Given the description of an element on the screen output the (x, y) to click on. 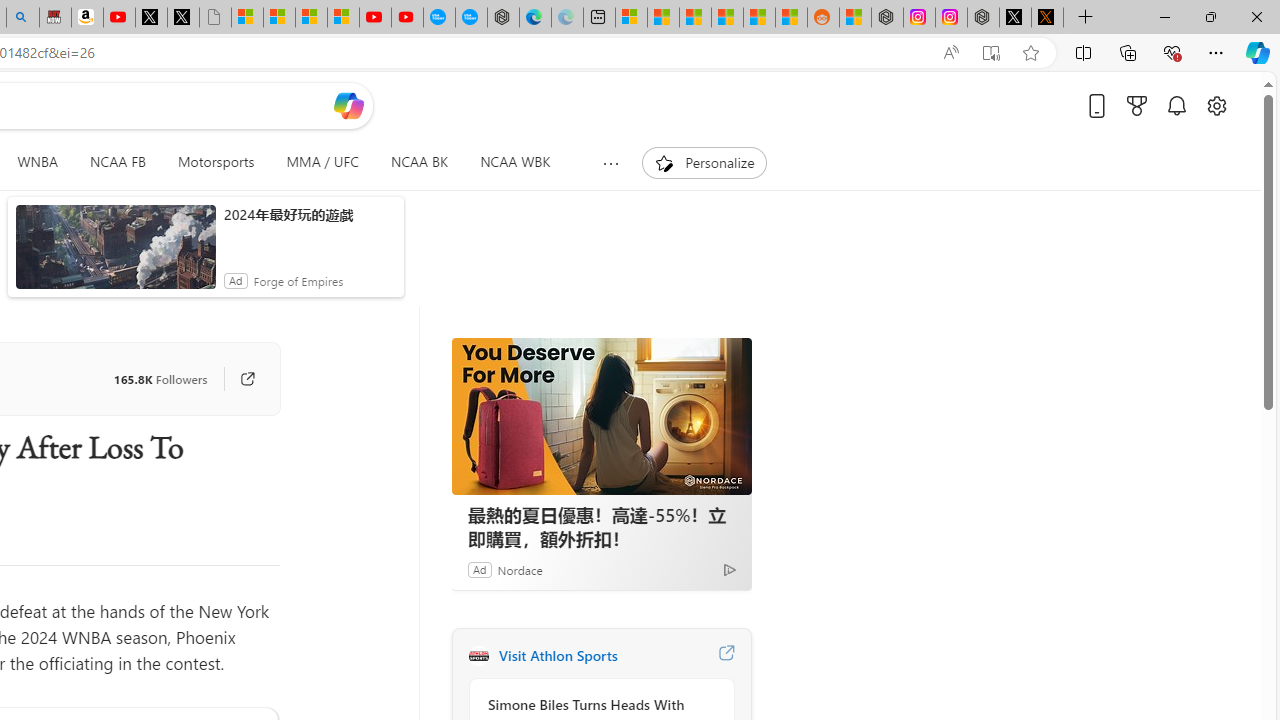
MMA / UFC (322, 162)
Show more topics (611, 163)
WNBA (37, 162)
Enter Immersive Reader (F9) (991, 53)
Browser essentials (1171, 52)
Add this page to favorites (Ctrl+D) (1030, 53)
Motorsports (215, 162)
Ad (479, 569)
Shanghai, China hourly forecast | Microsoft Weather (694, 17)
Ad Choice (729, 569)
MMA / UFC (321, 162)
Personalize (703, 162)
